Given the description of an element on the screen output the (x, y) to click on. 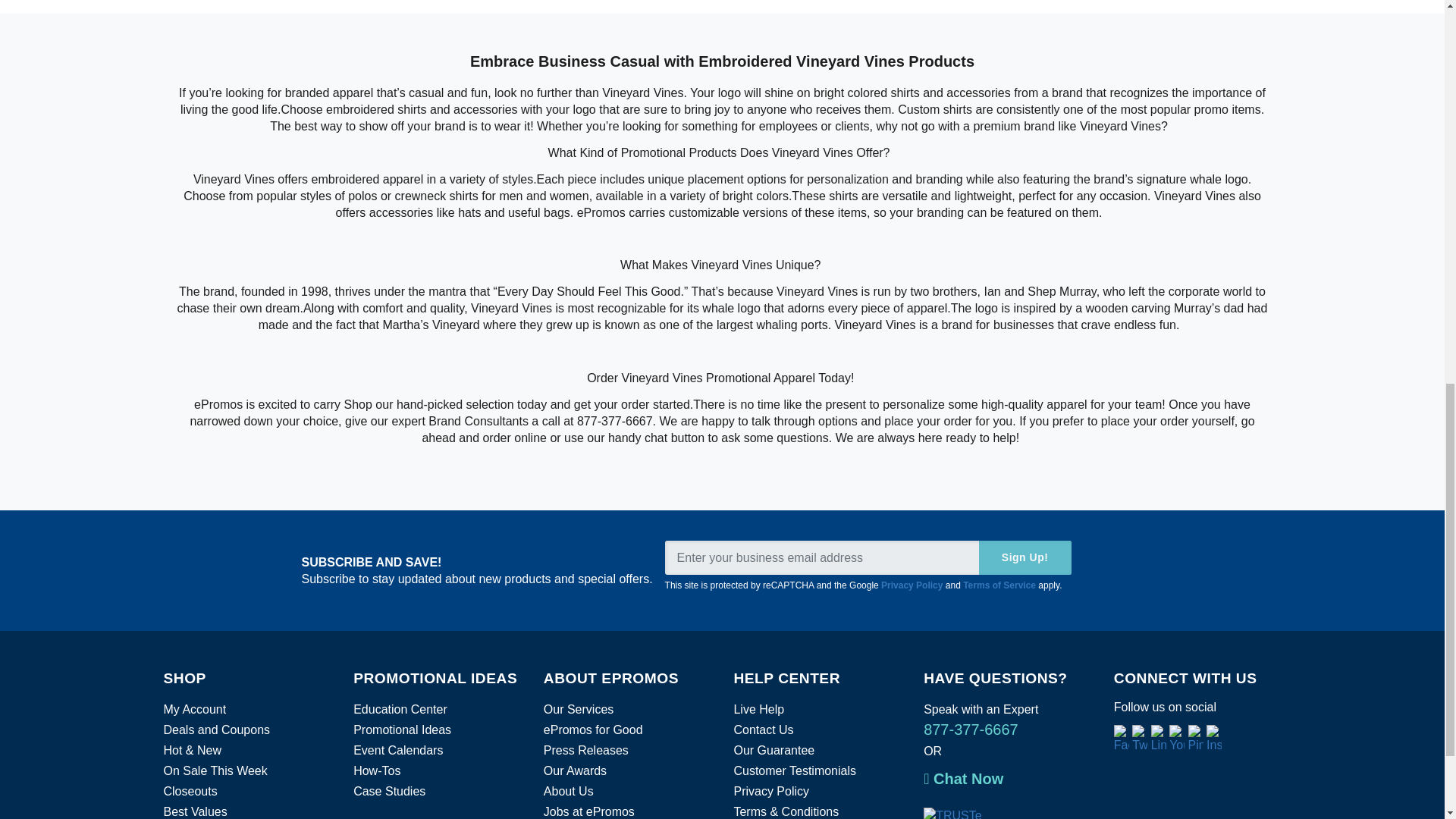
Sign Up! (1024, 557)
email address (868, 557)
